Given the description of an element on the screen output the (x, y) to click on. 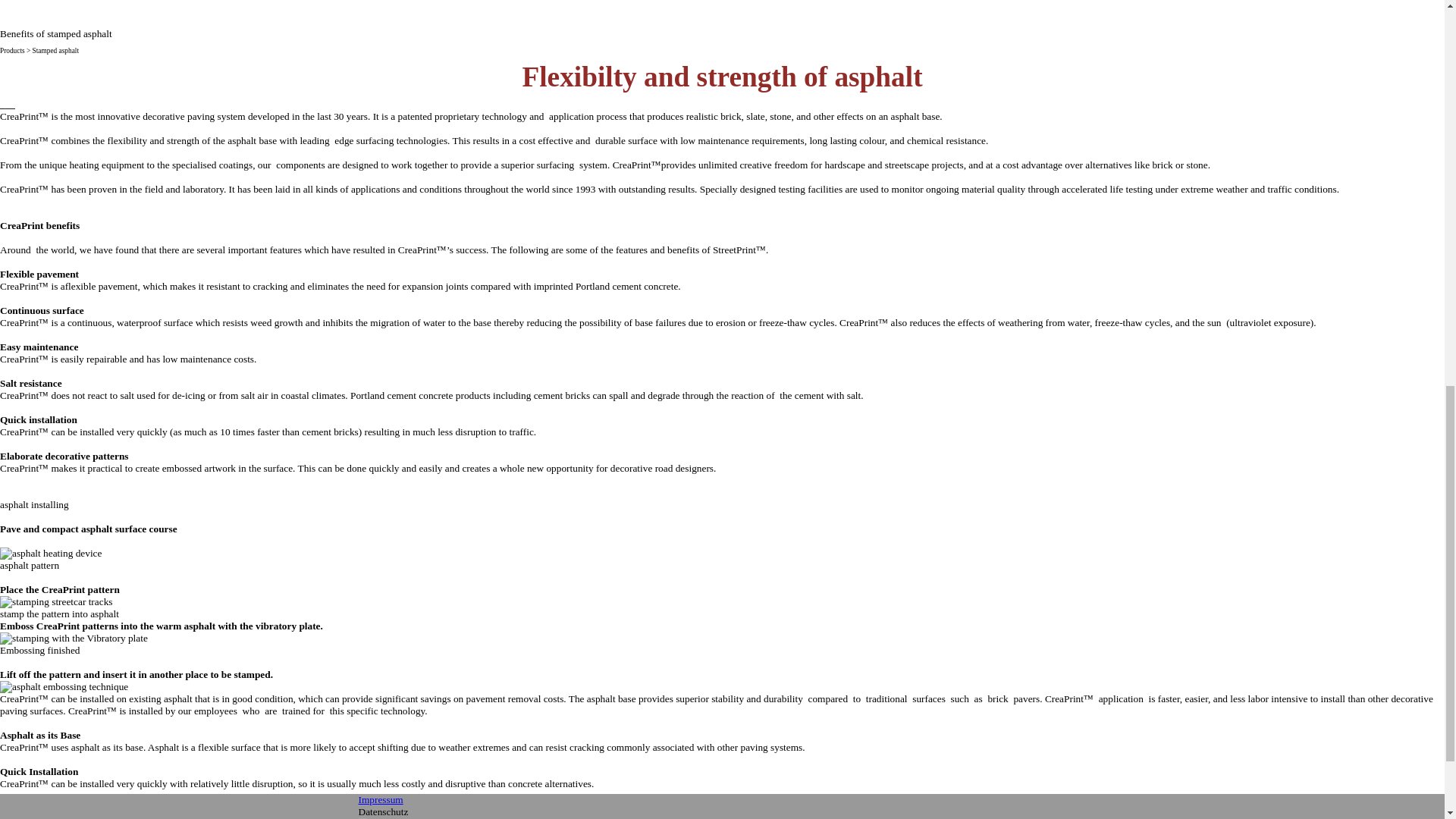
asphalt stamping (74, 638)
asphalt stamping (56, 602)
infrared heater (50, 553)
Ronald Mc Donald pattern in asphalt (64, 686)
Impressum (380, 799)
